Given the description of an element on the screen output the (x, y) to click on. 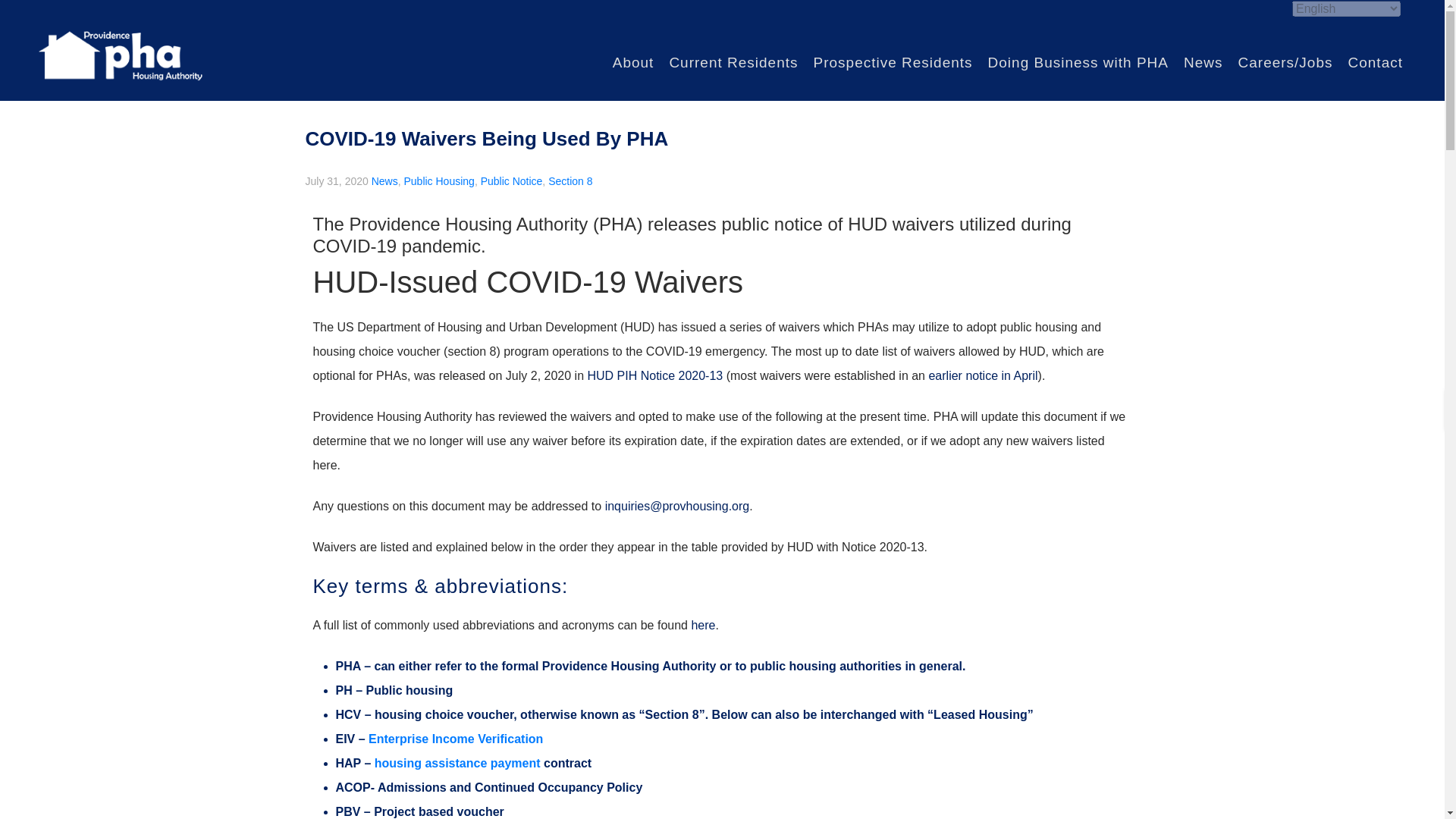
Current Residents (733, 62)
